Given the description of an element on the screen output the (x, y) to click on. 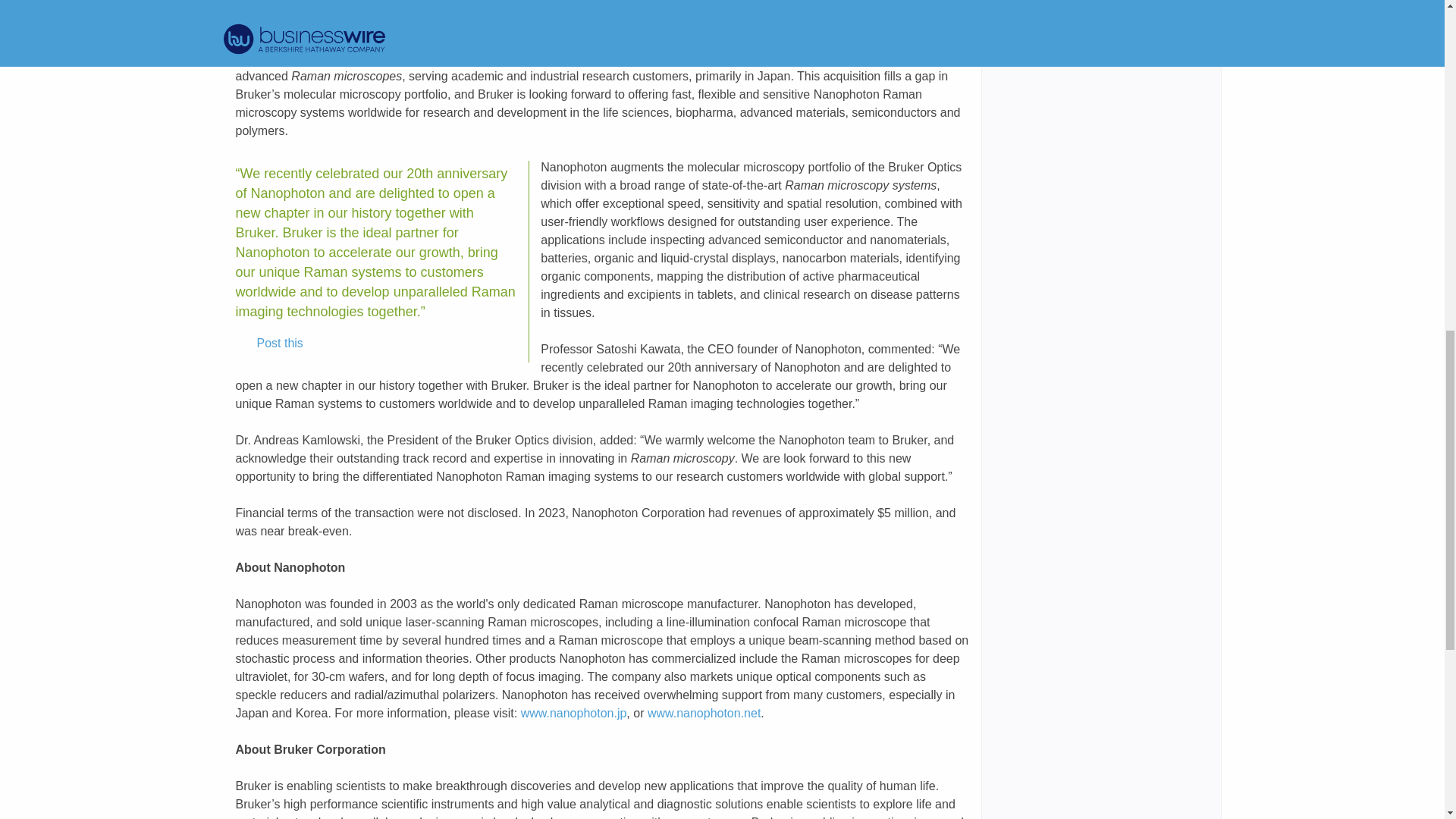
Nanophoton Corporation (894, 39)
Post this (269, 343)
Bruker Corporation (489, 39)
www.nanophoton.net (703, 712)
BUSINESS WIRE (377, 39)
www.nanophoton.jp (574, 712)
